Given the description of an element on the screen output the (x, y) to click on. 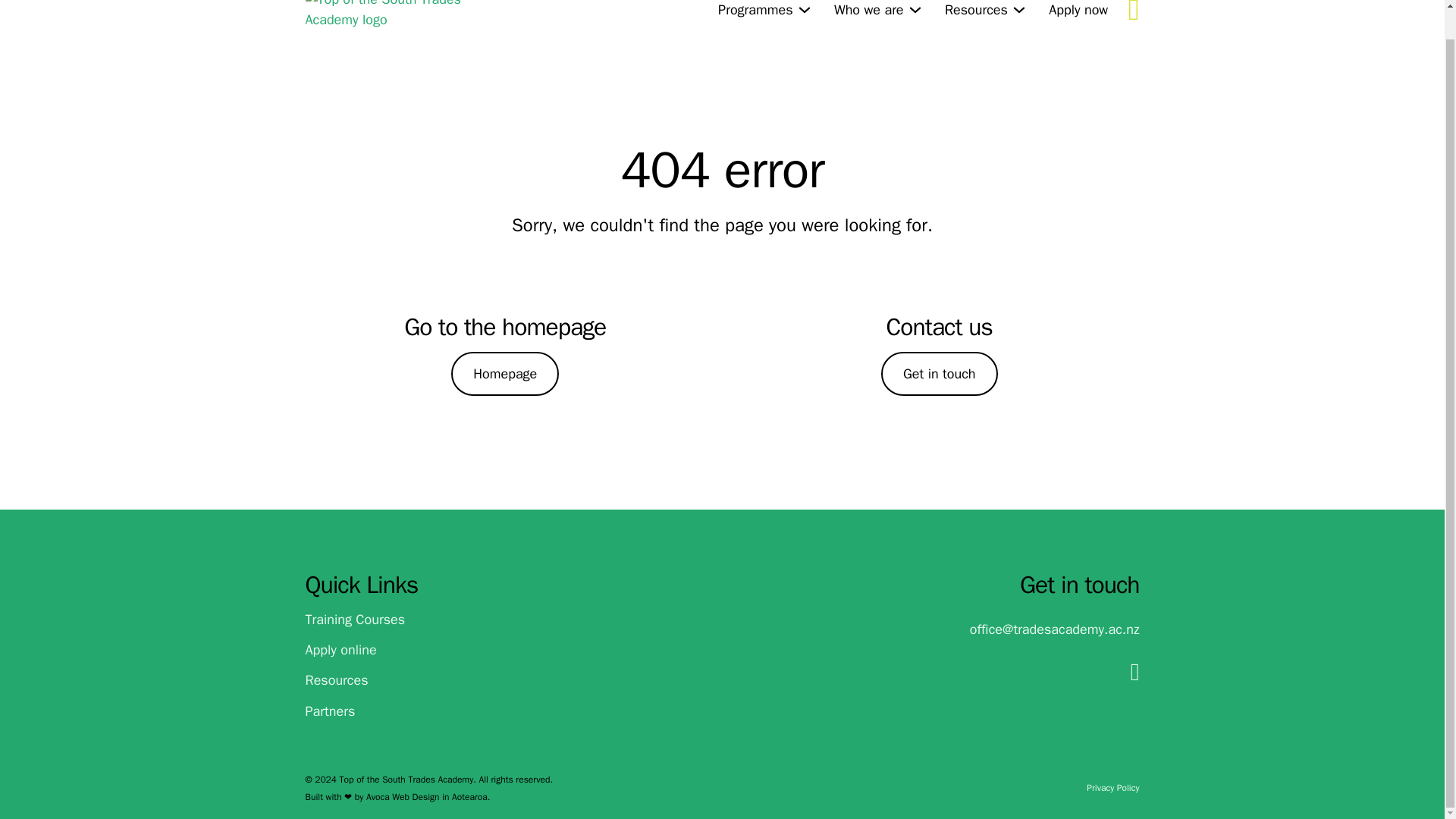
Resources (975, 9)
Who we are (869, 9)
Apply now (1078, 9)
Programmes (755, 9)
